Given the description of an element on the screen output the (x, y) to click on. 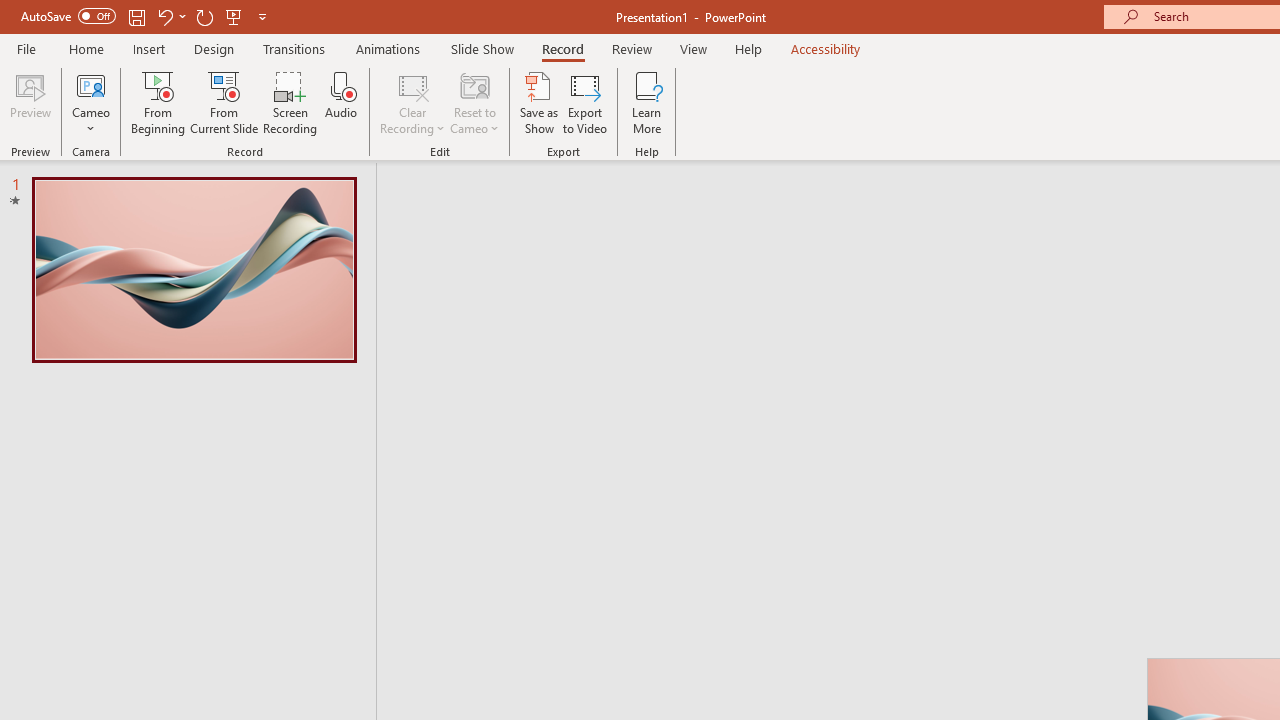
From Current Slide... (224, 102)
Audio (341, 102)
